Given the description of an element on the screen output the (x, y) to click on. 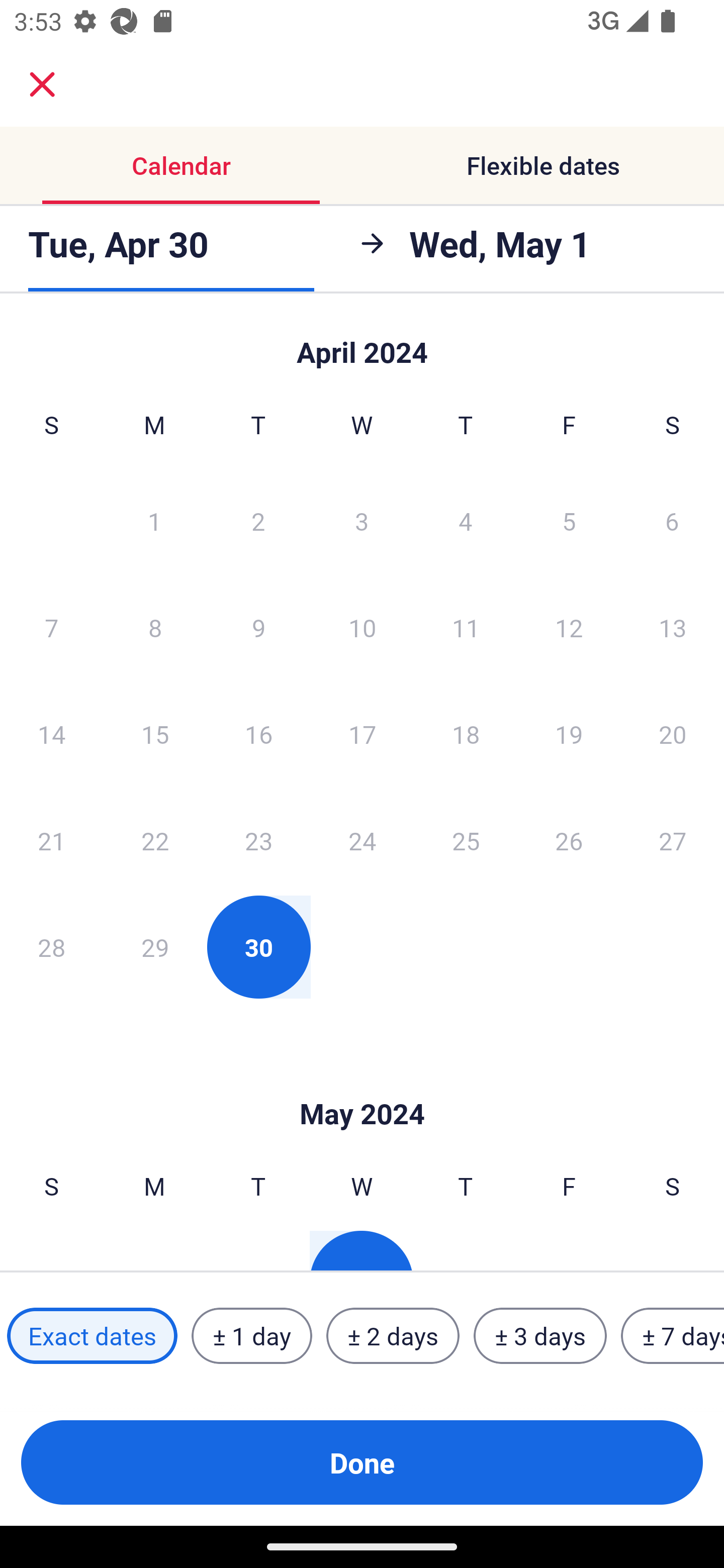
close. (42, 84)
Flexible dates (542, 164)
Skip to Done (362, 343)
1 Monday, April 1, 2024 (154, 520)
2 Tuesday, April 2, 2024 (257, 520)
3 Wednesday, April 3, 2024 (361, 520)
4 Thursday, April 4, 2024 (465, 520)
5 Friday, April 5, 2024 (568, 520)
6 Saturday, April 6, 2024 (672, 520)
7 Sunday, April 7, 2024 (51, 626)
8 Monday, April 8, 2024 (155, 626)
9 Tuesday, April 9, 2024 (258, 626)
10 Wednesday, April 10, 2024 (362, 626)
11 Thursday, April 11, 2024 (465, 626)
12 Friday, April 12, 2024 (569, 626)
13 Saturday, April 13, 2024 (672, 626)
14 Sunday, April 14, 2024 (51, 733)
15 Monday, April 15, 2024 (155, 733)
16 Tuesday, April 16, 2024 (258, 733)
17 Wednesday, April 17, 2024 (362, 733)
18 Thursday, April 18, 2024 (465, 733)
19 Friday, April 19, 2024 (569, 733)
20 Saturday, April 20, 2024 (672, 733)
21 Sunday, April 21, 2024 (51, 840)
22 Monday, April 22, 2024 (155, 840)
23 Tuesday, April 23, 2024 (258, 840)
24 Wednesday, April 24, 2024 (362, 840)
25 Thursday, April 25, 2024 (465, 840)
26 Friday, April 26, 2024 (569, 840)
27 Saturday, April 27, 2024 (672, 840)
28 Sunday, April 28, 2024 (51, 946)
29 Monday, April 29, 2024 (155, 946)
Skip to Done (362, 1083)
Exact dates (92, 1335)
± 1 day (251, 1335)
± 2 days (392, 1335)
± 3 days (539, 1335)
± 7 days (672, 1335)
Done (361, 1462)
